Given the description of an element on the screen output the (x, y) to click on. 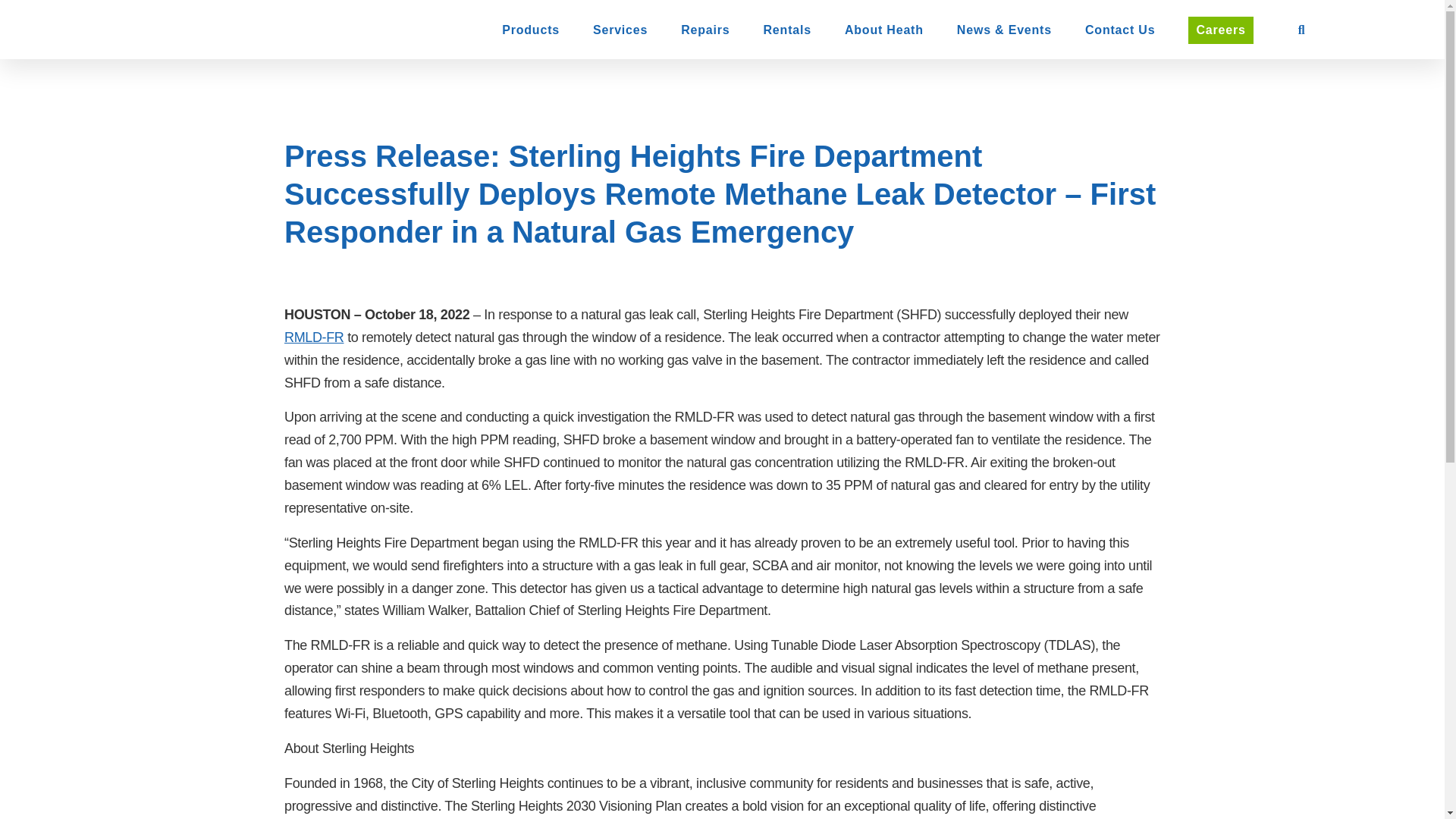
RMLD-FR (313, 337)
Repairs (705, 30)
About Heath (883, 30)
Services (619, 30)
Heath Consultants (209, 24)
Contact Us (1119, 30)
Rentals (786, 30)
Careers (1220, 30)
Products (530, 30)
